Given the description of an element on the screen output the (x, y) to click on. 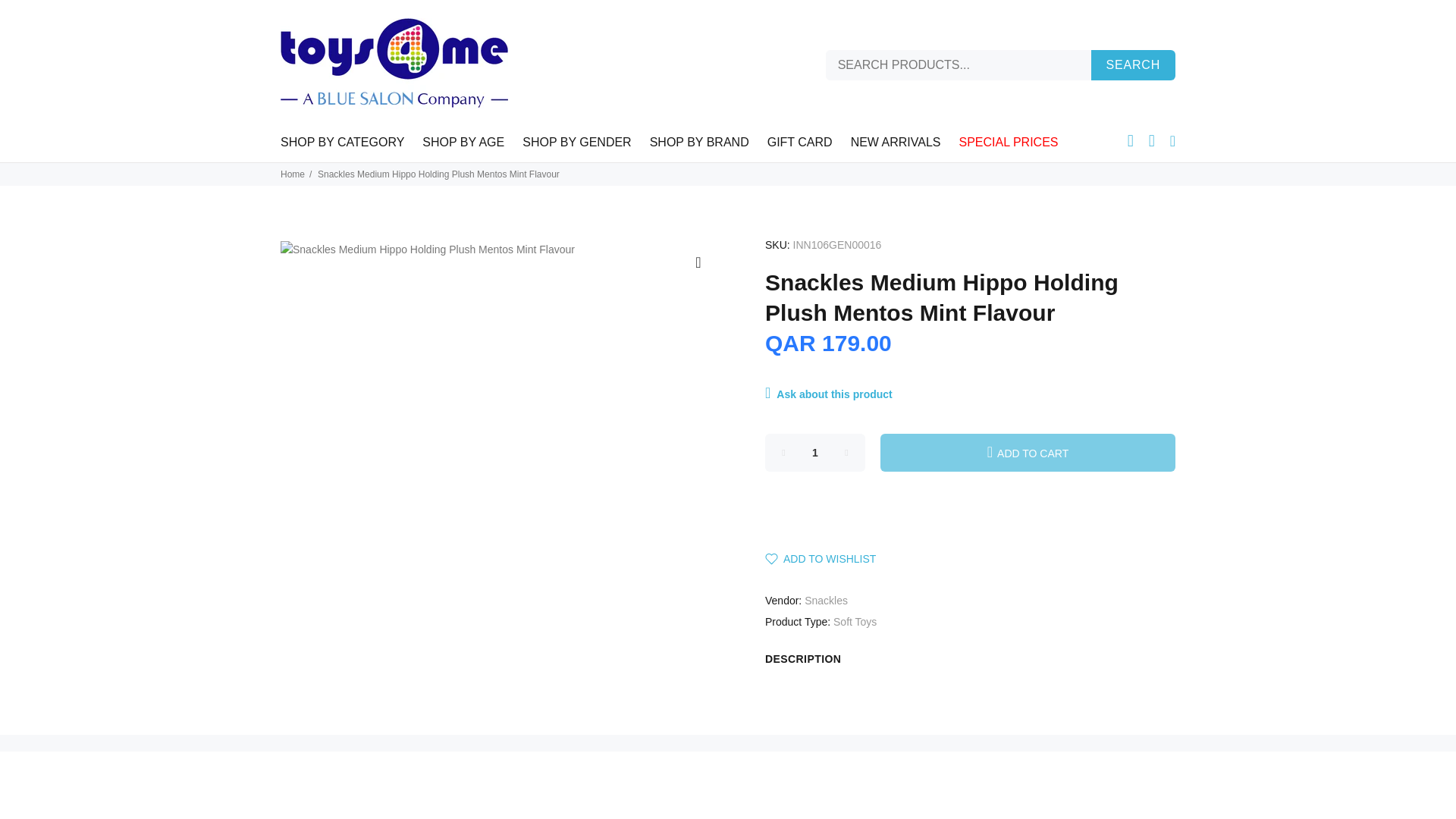
1 (814, 452)
Snackles (826, 600)
